Given the description of an element on the screen output the (x, y) to click on. 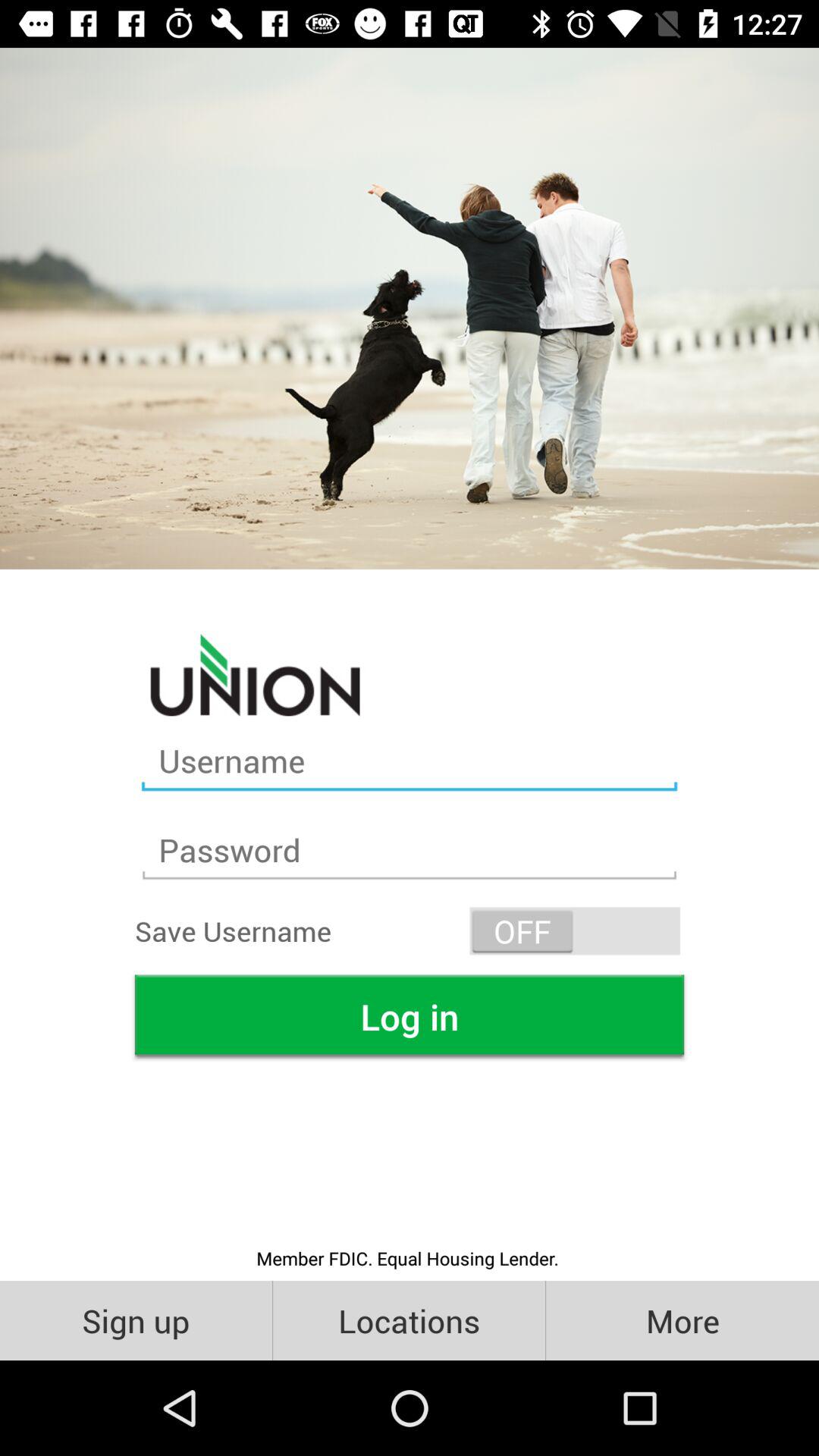
launch the item to the right of sign up icon (409, 1320)
